Given the description of an element on the screen output the (x, y) to click on. 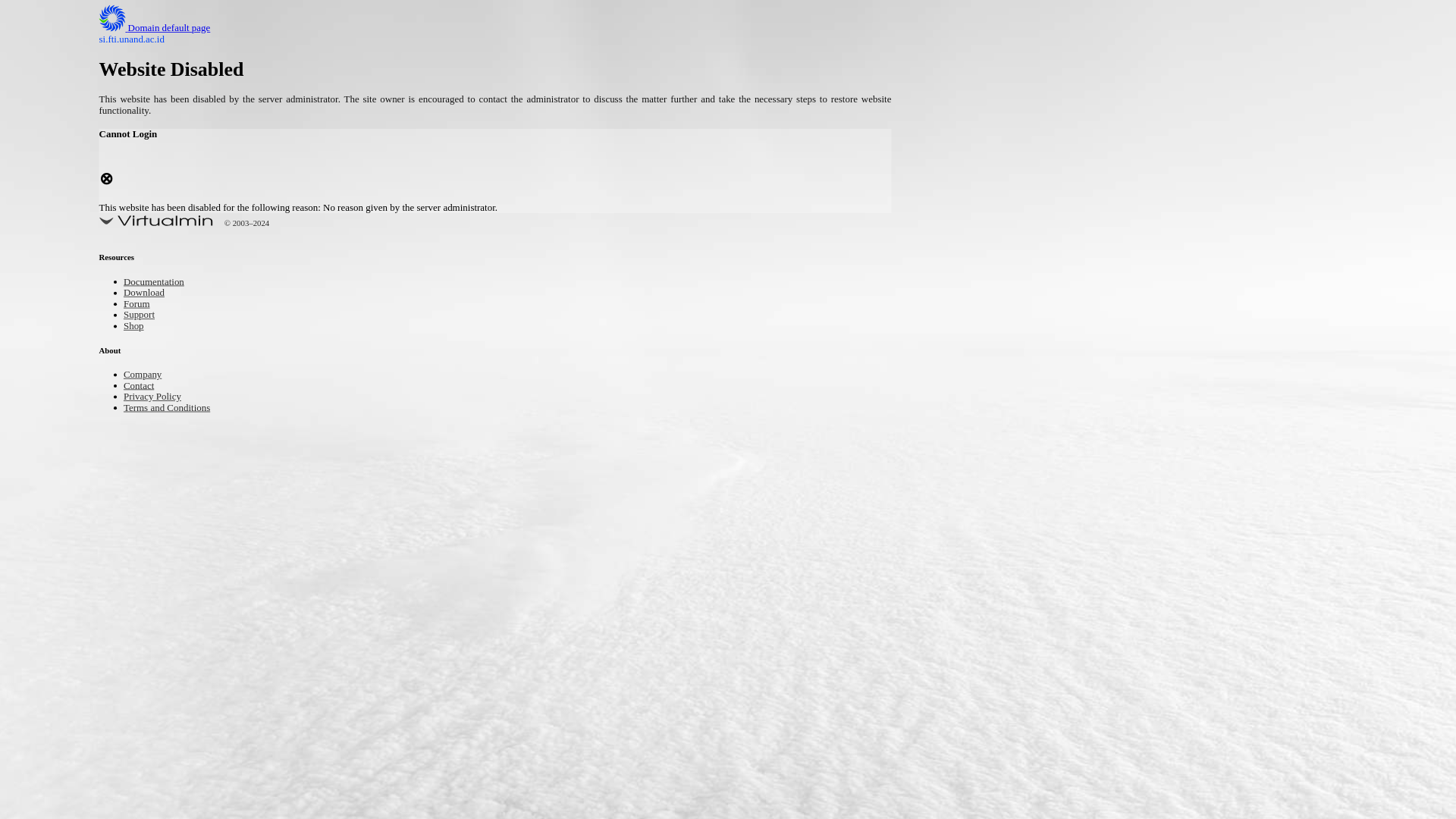
Company (146, 374)
Domain default page (167, 29)
Support (142, 315)
Forum (139, 305)
Shop (135, 327)
Documentation (160, 282)
Privacy Policy (159, 397)
Contact (142, 386)
Download (148, 293)
Terms and Conditions (176, 408)
